Given the description of an element on the screen output the (x, y) to click on. 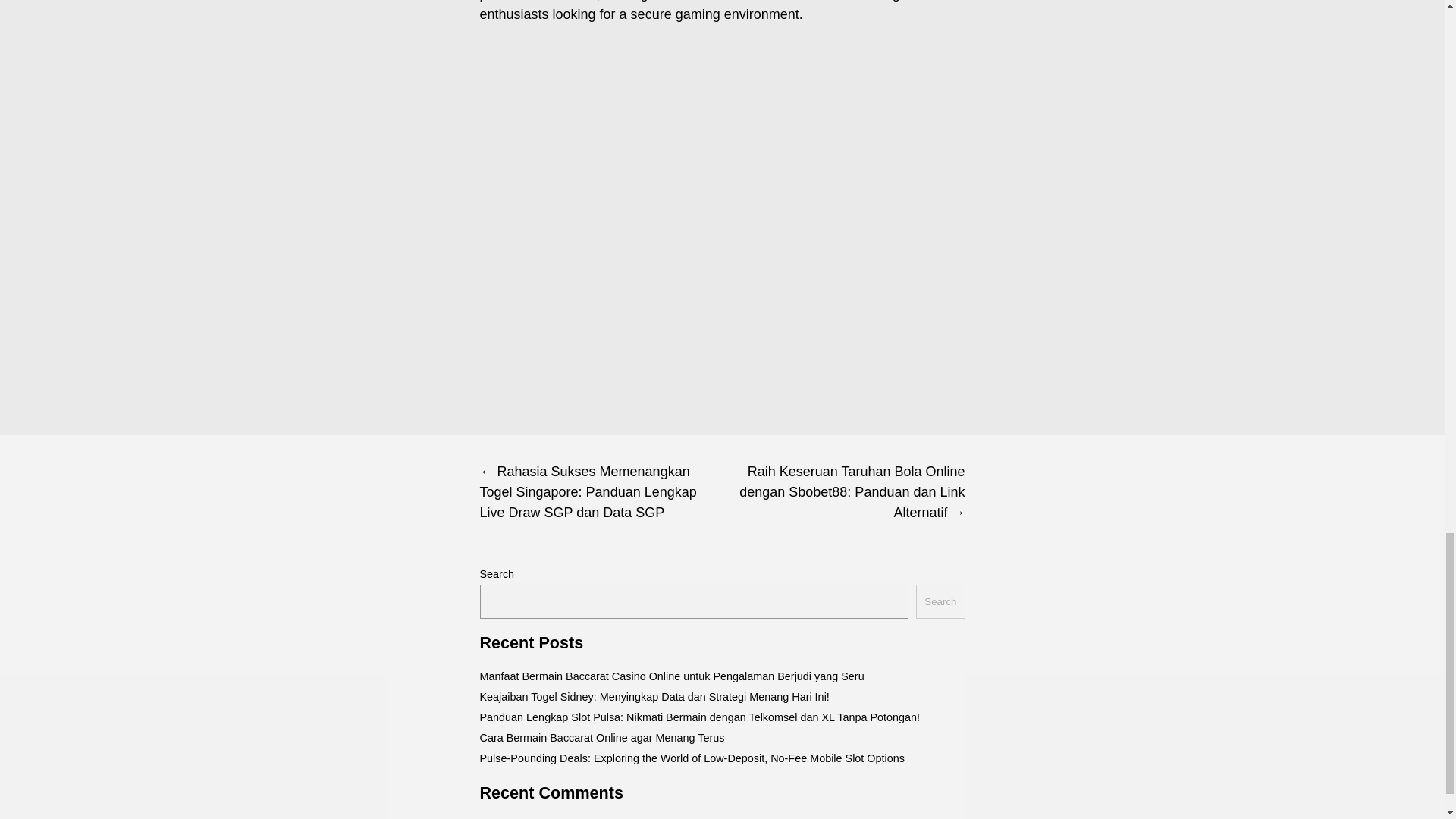
Cara Bermain Baccarat Online agar Menang Terus (601, 737)
Search (939, 601)
